Given the description of an element on the screen output the (x, y) to click on. 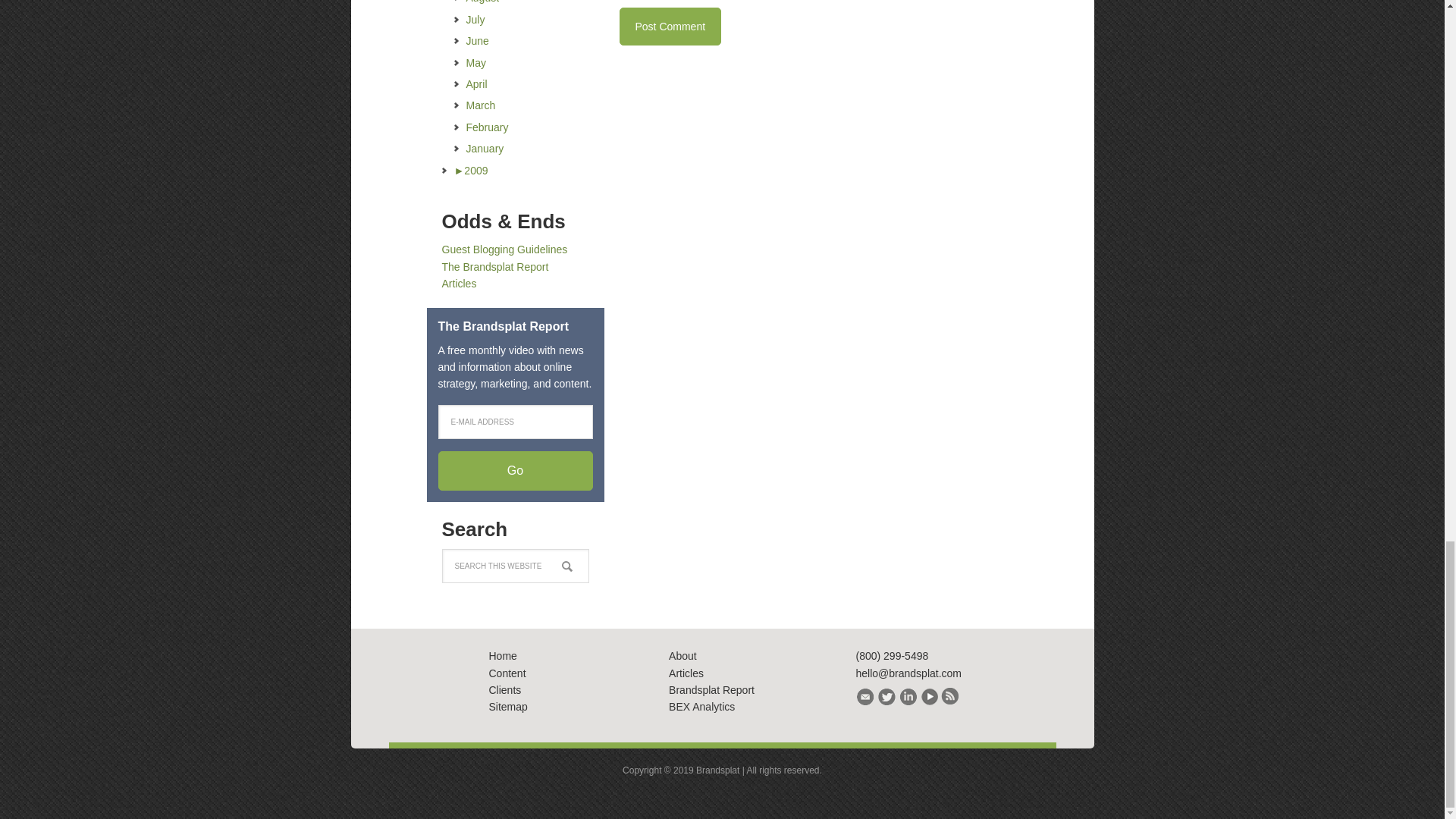
Post Comment (669, 26)
Go (515, 470)
Post Comment (669, 26)
